Given the description of an element on the screen output the (x, y) to click on. 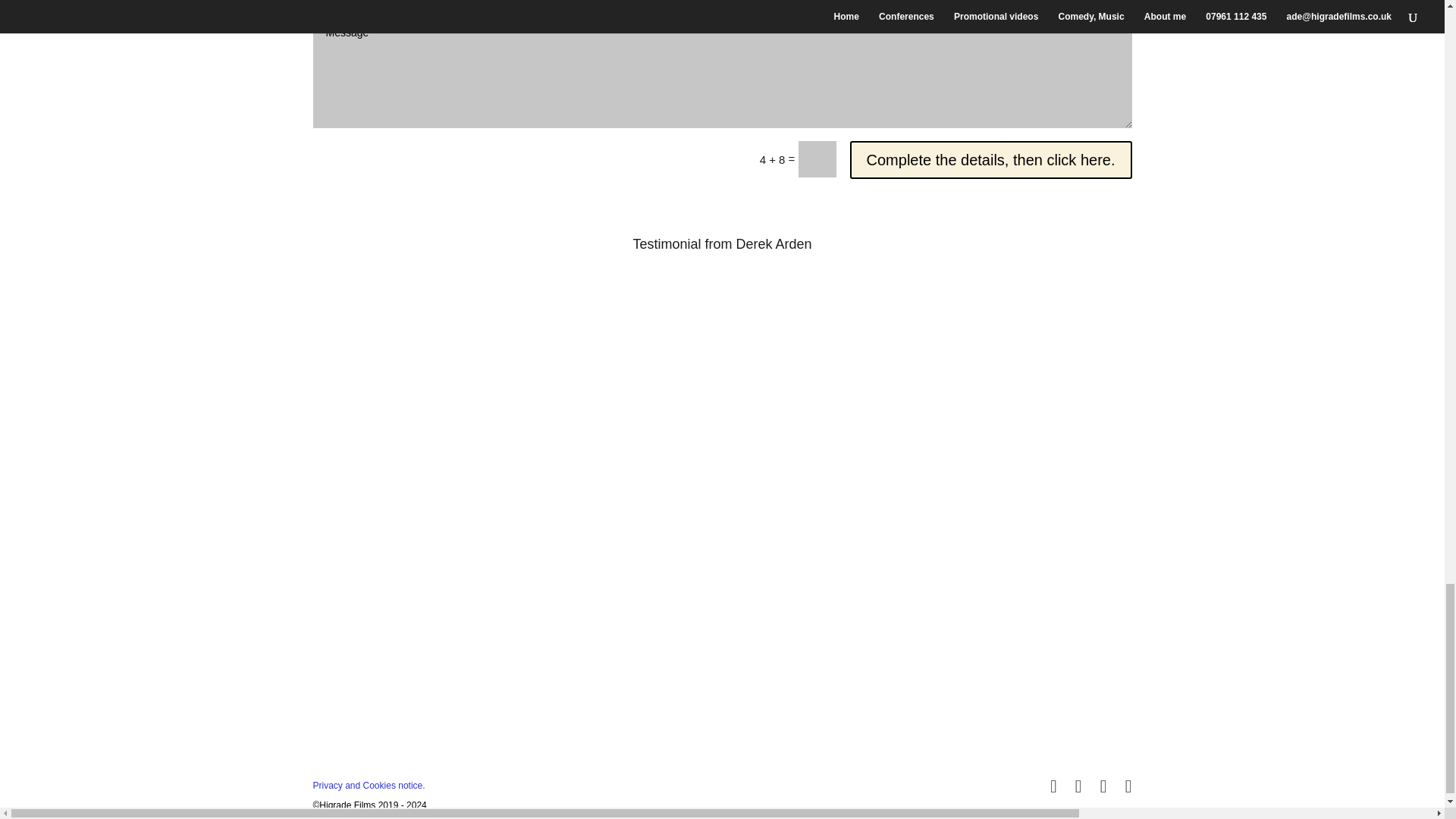
Complete the details, then click here. (991, 159)
Privacy and Cookies notice. (369, 785)
Testimonial from Derek Arden (720, 243)
